Given the description of an element on the screen output the (x, y) to click on. 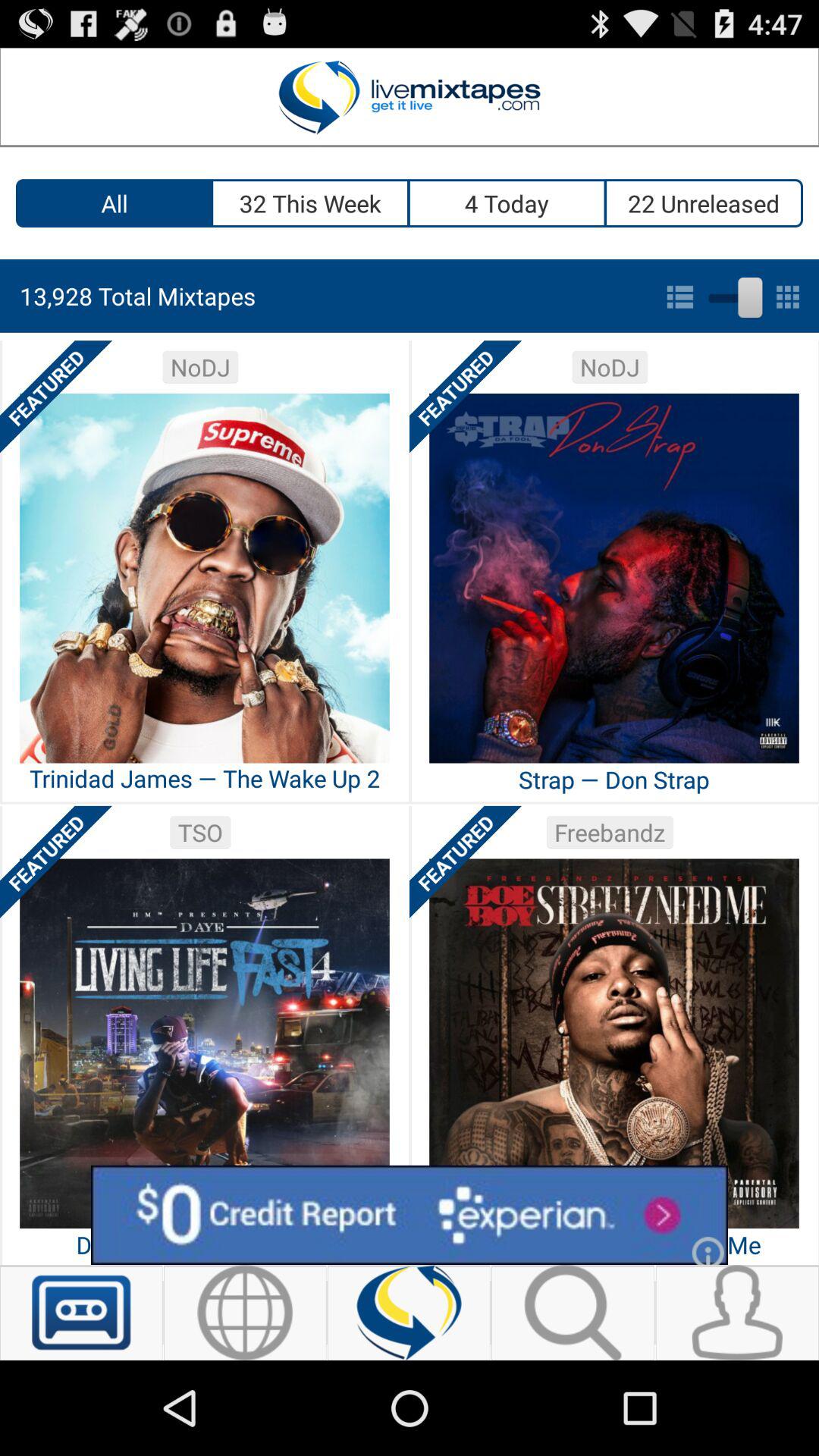
click the item above the 13 928 total (113, 203)
